Given the description of an element on the screen output the (x, y) to click on. 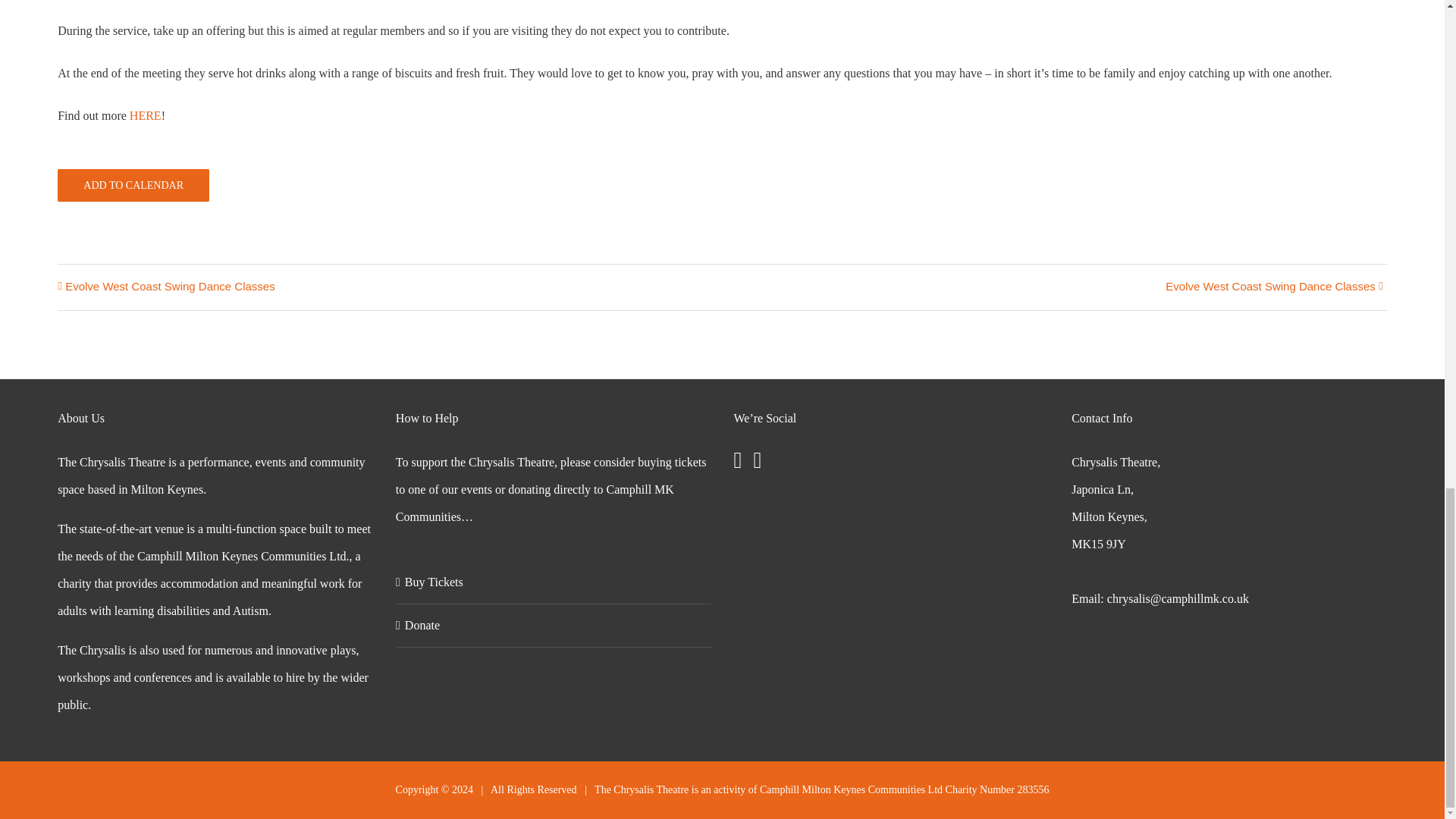
ADD TO CALENDAR (132, 185)
HERE (145, 115)
